Given the description of an element on the screen output the (x, y) to click on. 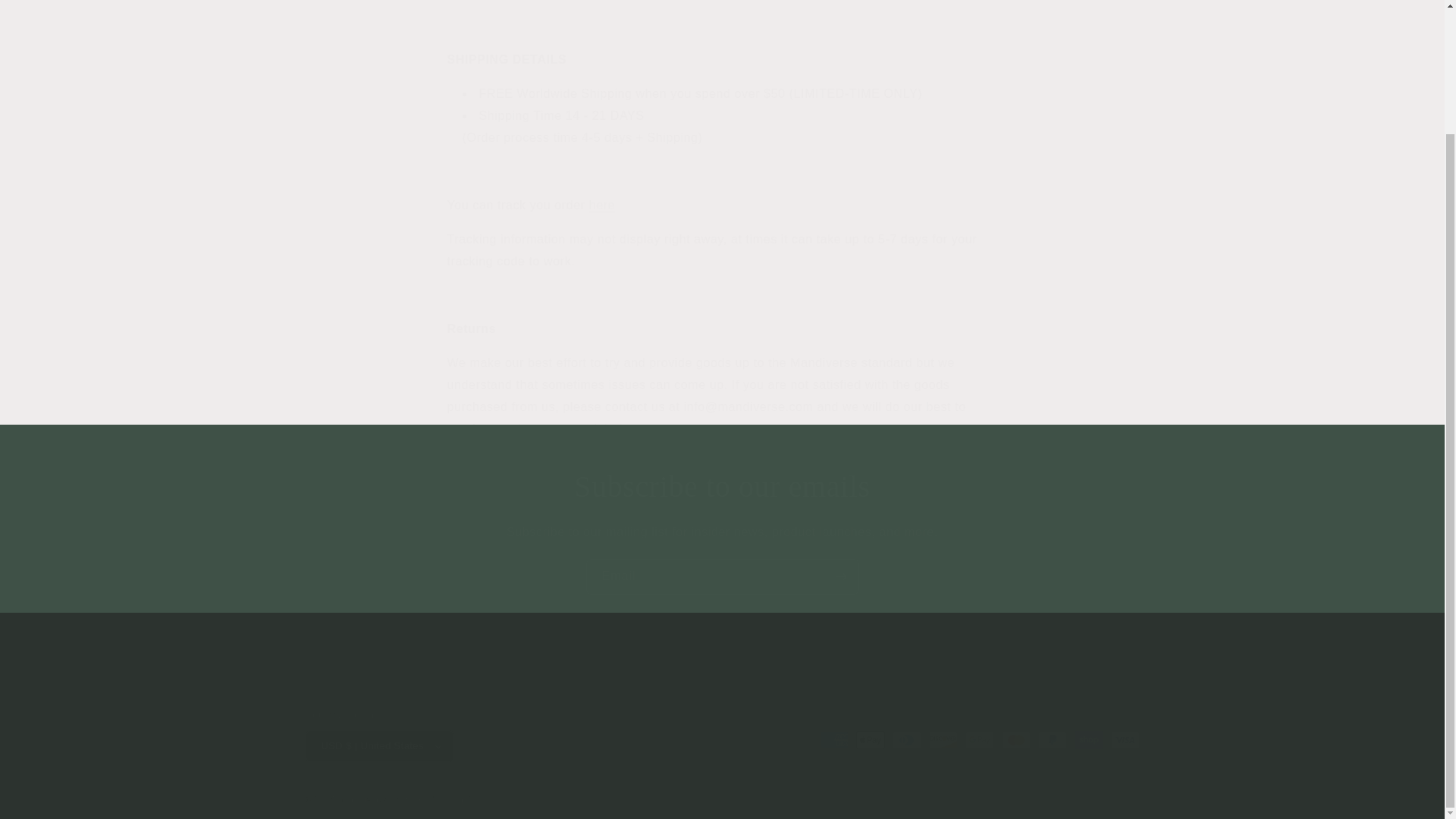
Email (722, 576)
Subscribe to our emails (721, 486)
Track Order Status (601, 205)
